Given the description of an element on the screen output the (x, y) to click on. 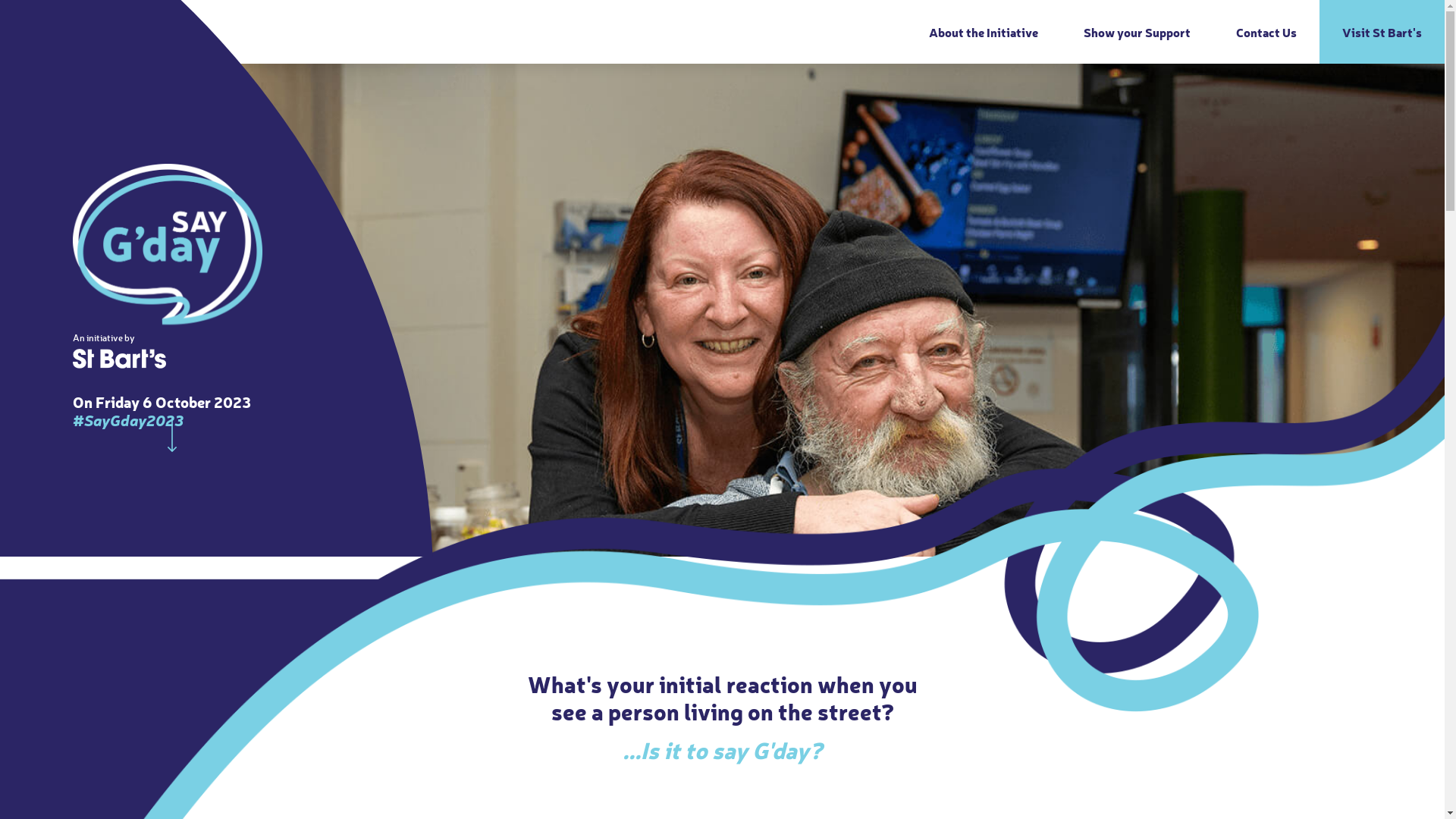
About the Initiative Element type: text (983, 31)
Contact Us Element type: text (1266, 31)
Visit St Bart's Element type: text (1381, 31)
Show your Support Element type: text (1136, 31)
